Given the description of an element on the screen output the (x, y) to click on. 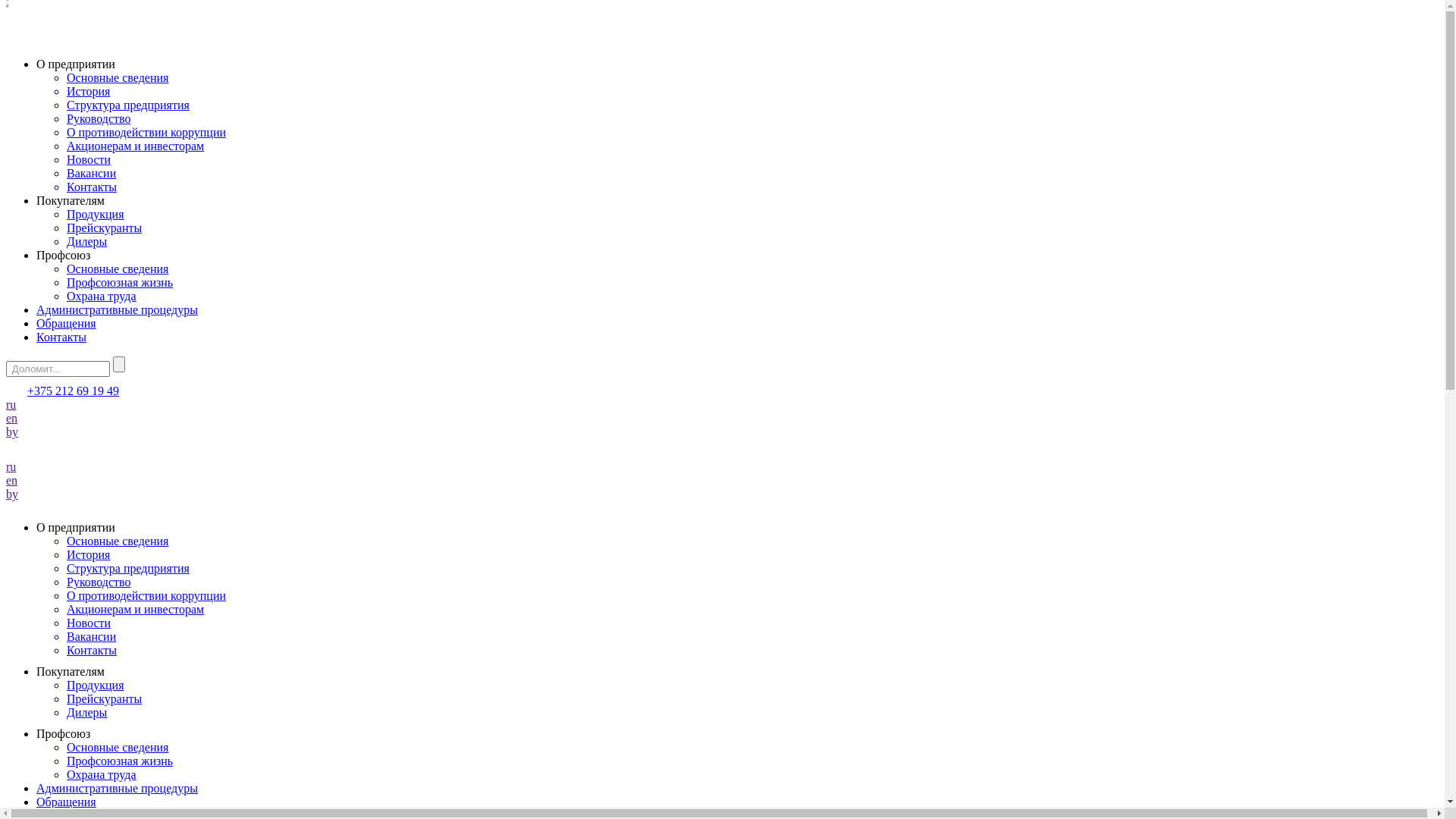
ru Element type: text (10, 404)
ru Element type: text (10, 466)
by Element type: text (12, 431)
en Element type: text (11, 479)
by Element type: text (12, 493)
en Element type: text (11, 417)
+375 212 69 19 49 Element type: text (73, 390)
